Given the description of an element on the screen output the (x, y) to click on. 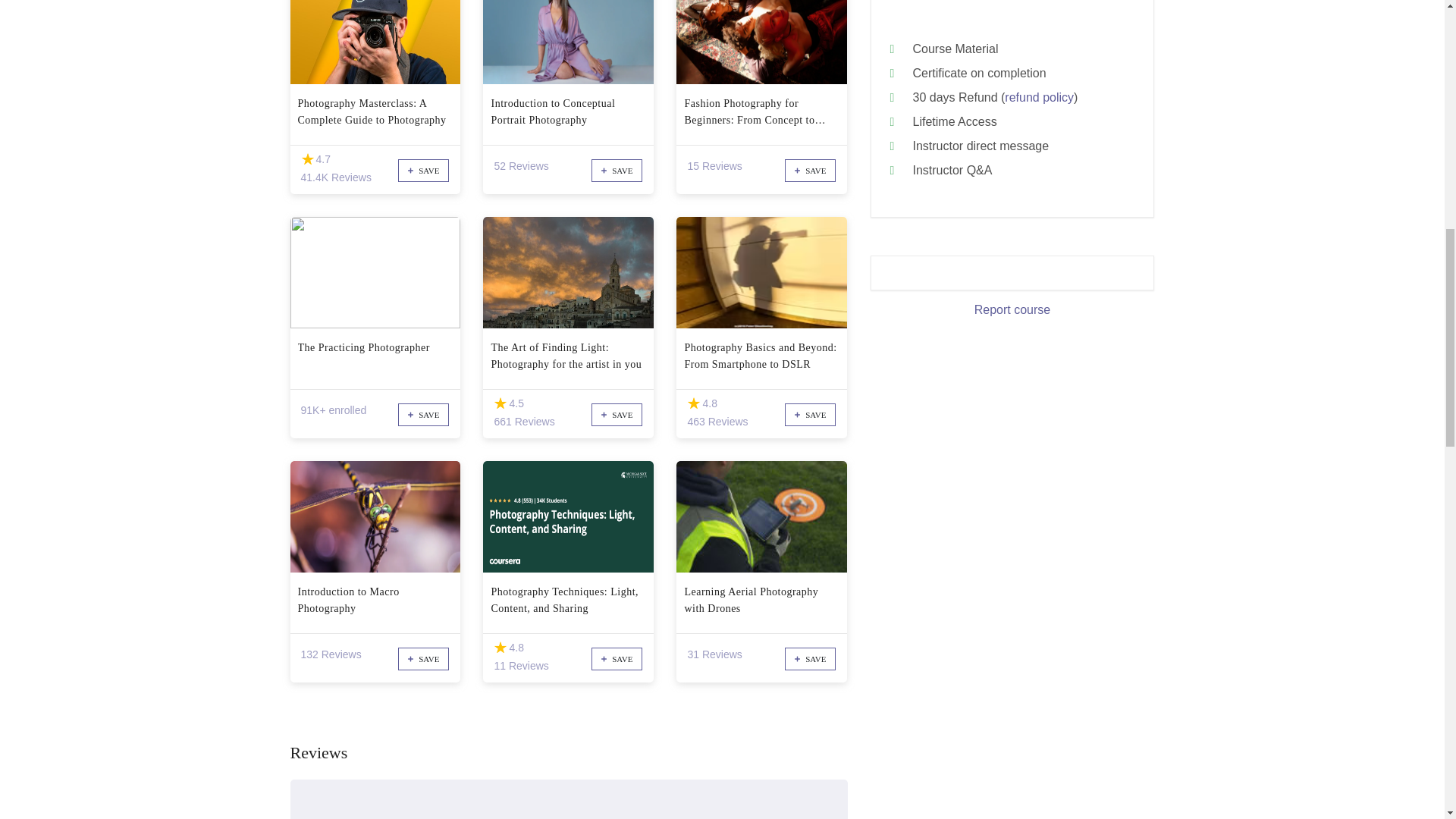
4.5 (499, 403)
4.8 (693, 403)
4.7 (306, 159)
4.8 (499, 647)
